Given the description of an element on the screen output the (x, y) to click on. 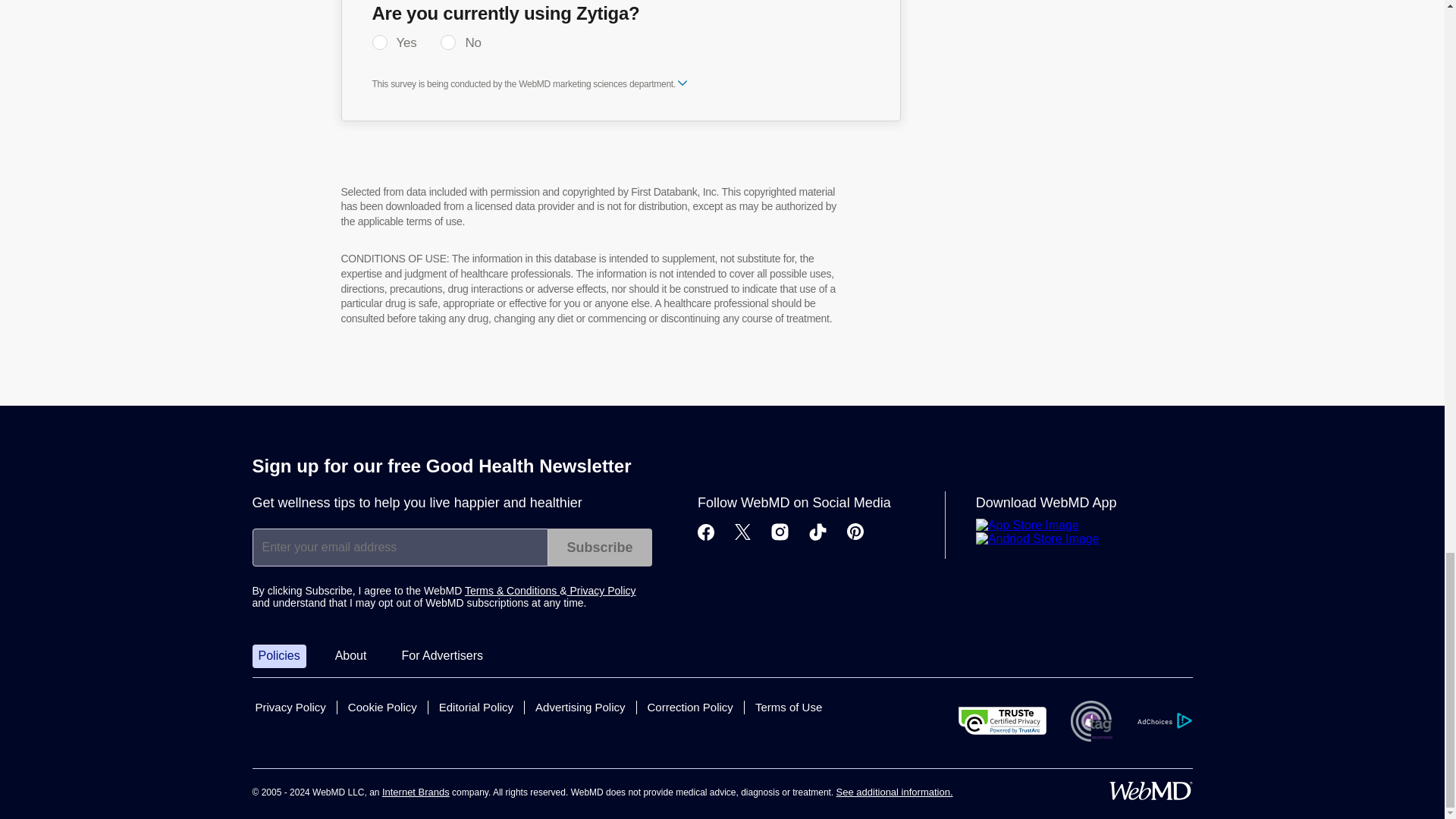
Adchoices (1163, 720)
TRUSTe Privacy Certification (1002, 720)
WebMD: Better information. Better health. (1150, 790)
TAG Registered Seal (1091, 721)
